Given the description of an element on the screen output the (x, y) to click on. 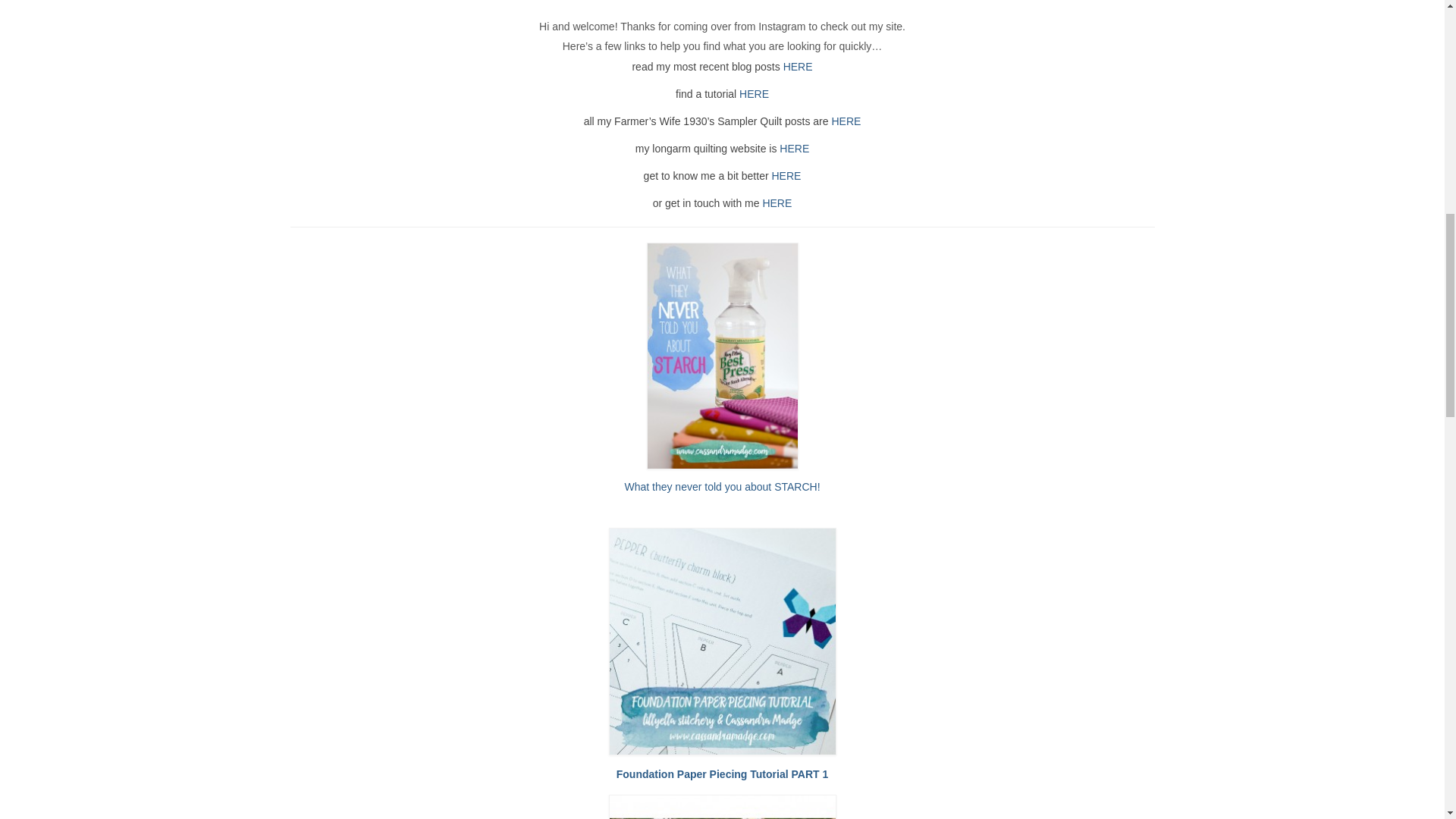
HERE (793, 148)
HERE (776, 203)
HERE (785, 175)
HERE (797, 66)
HERE (845, 121)
HERE (753, 93)
